Given the description of an element on the screen output the (x, y) to click on. 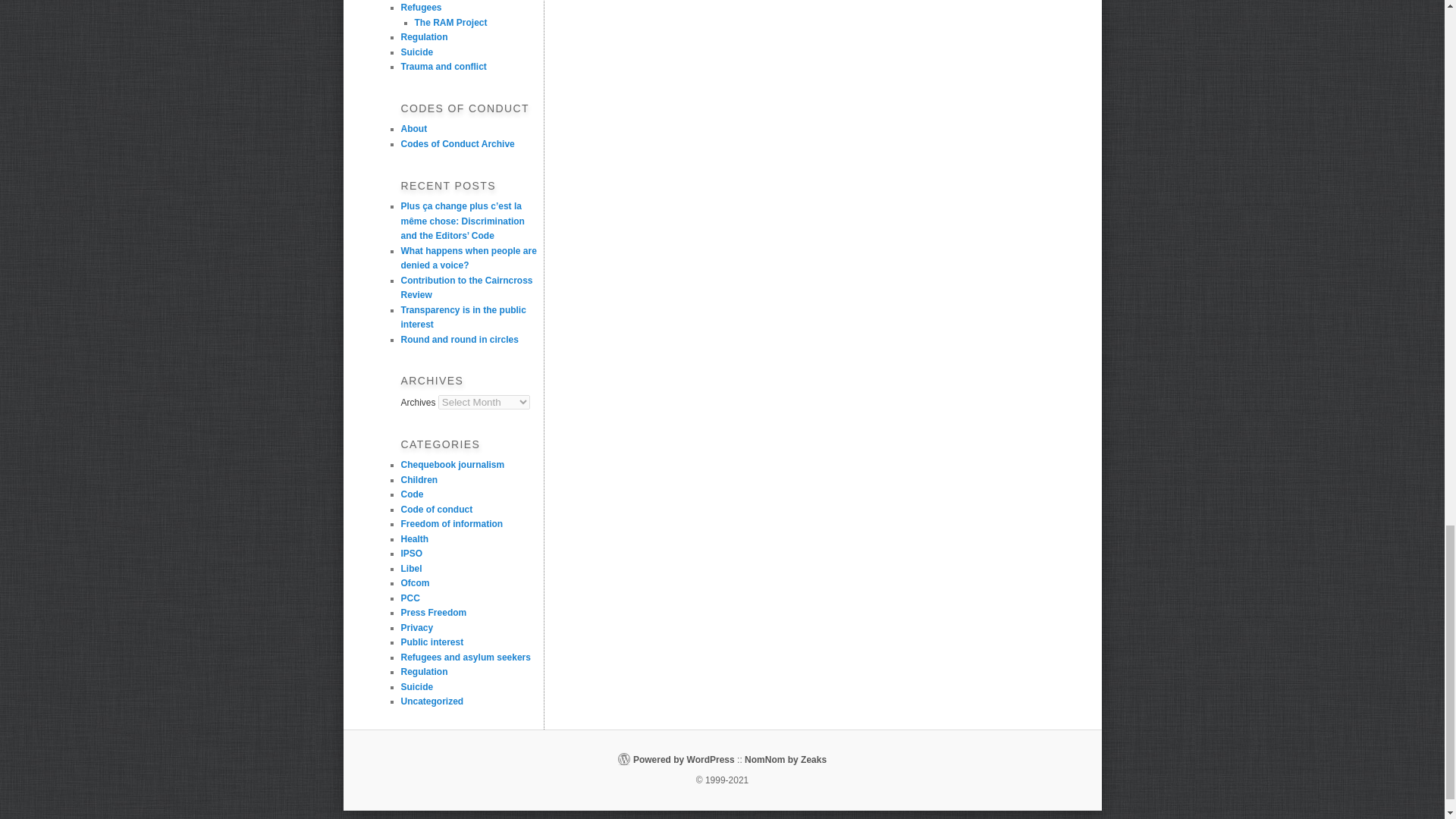
Suicide (416, 50)
The RAM Project (450, 22)
What happens when people are denied a voice? (467, 258)
Codes of Conduct Archive (457, 143)
Regulation (424, 36)
Refugees (421, 7)
NomNom 1.7.2 (785, 759)
Trauma and conflict (443, 66)
About (414, 128)
Semantic Personal Publishing Platform (684, 759)
